Given the description of an element on the screen output the (x, y) to click on. 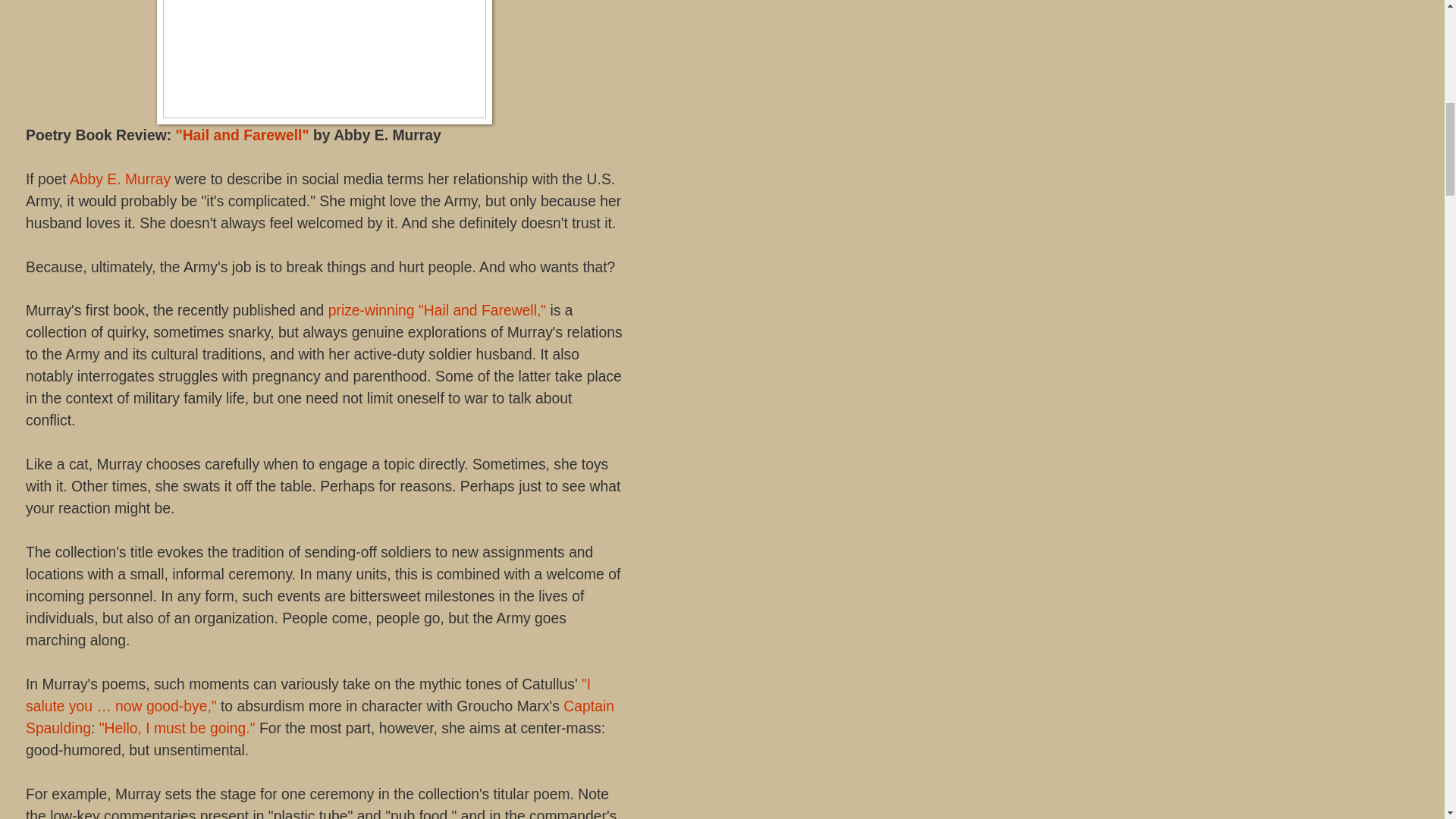
prize-winning (371, 310)
Captain Spaulding (320, 717)
"Hail and Farewell," (482, 310)
"Hello, I must be going." (177, 728)
"Hail and Farewell" (241, 135)
Abby E. Murray (121, 179)
